Given the description of an element on the screen output the (x, y) to click on. 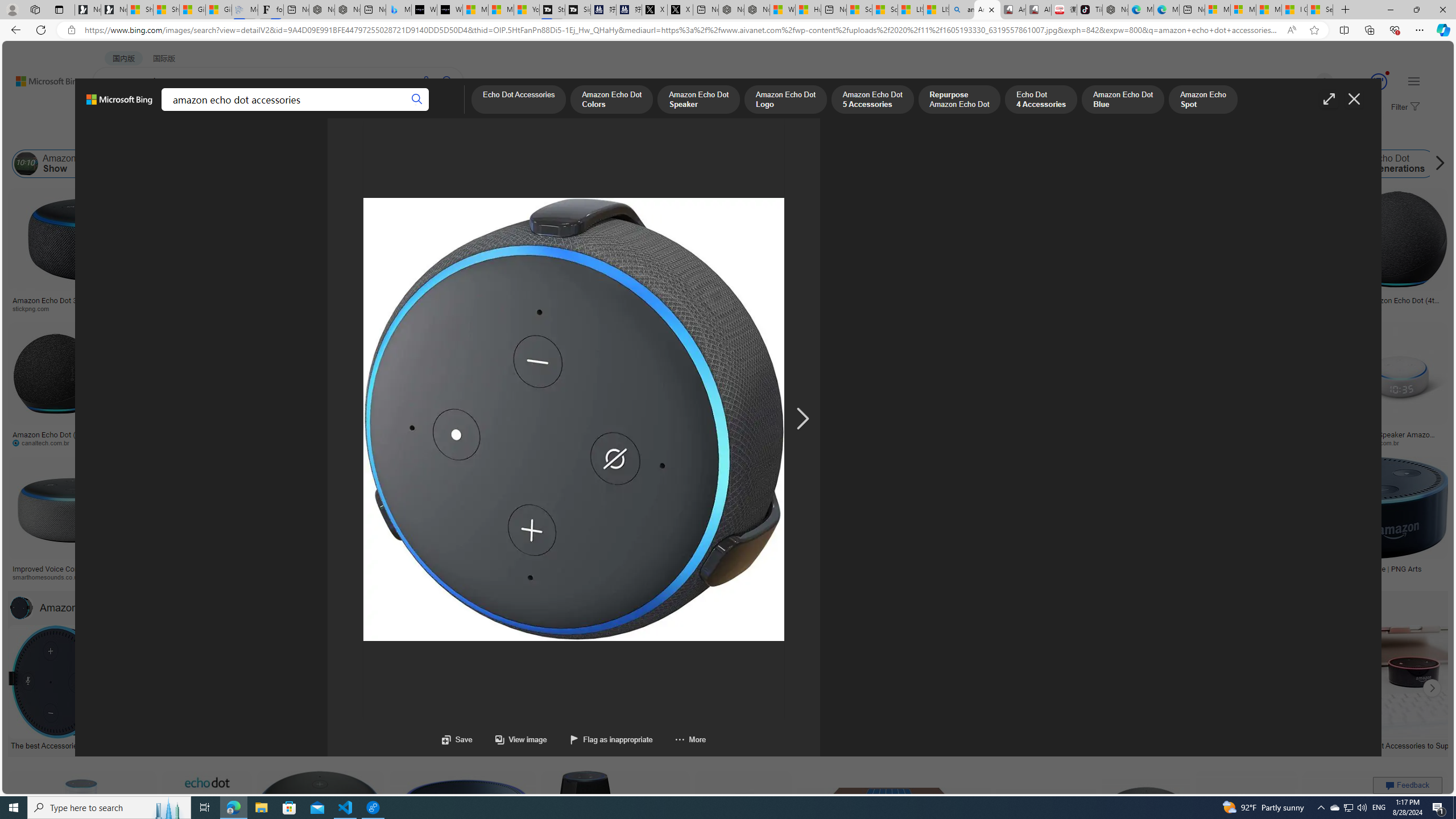
Class: outer-circle-animation (1378, 81)
pnghq.com (1203, 576)
Wildlife - MSN (782, 9)
buynow.com.ec (635, 442)
Shanghai, China weather forecast | Microsoft Weather (166, 9)
Amazon Echo Dot With Clock Review | Security.org (249, 568)
